Given the description of an element on the screen output the (x, y) to click on. 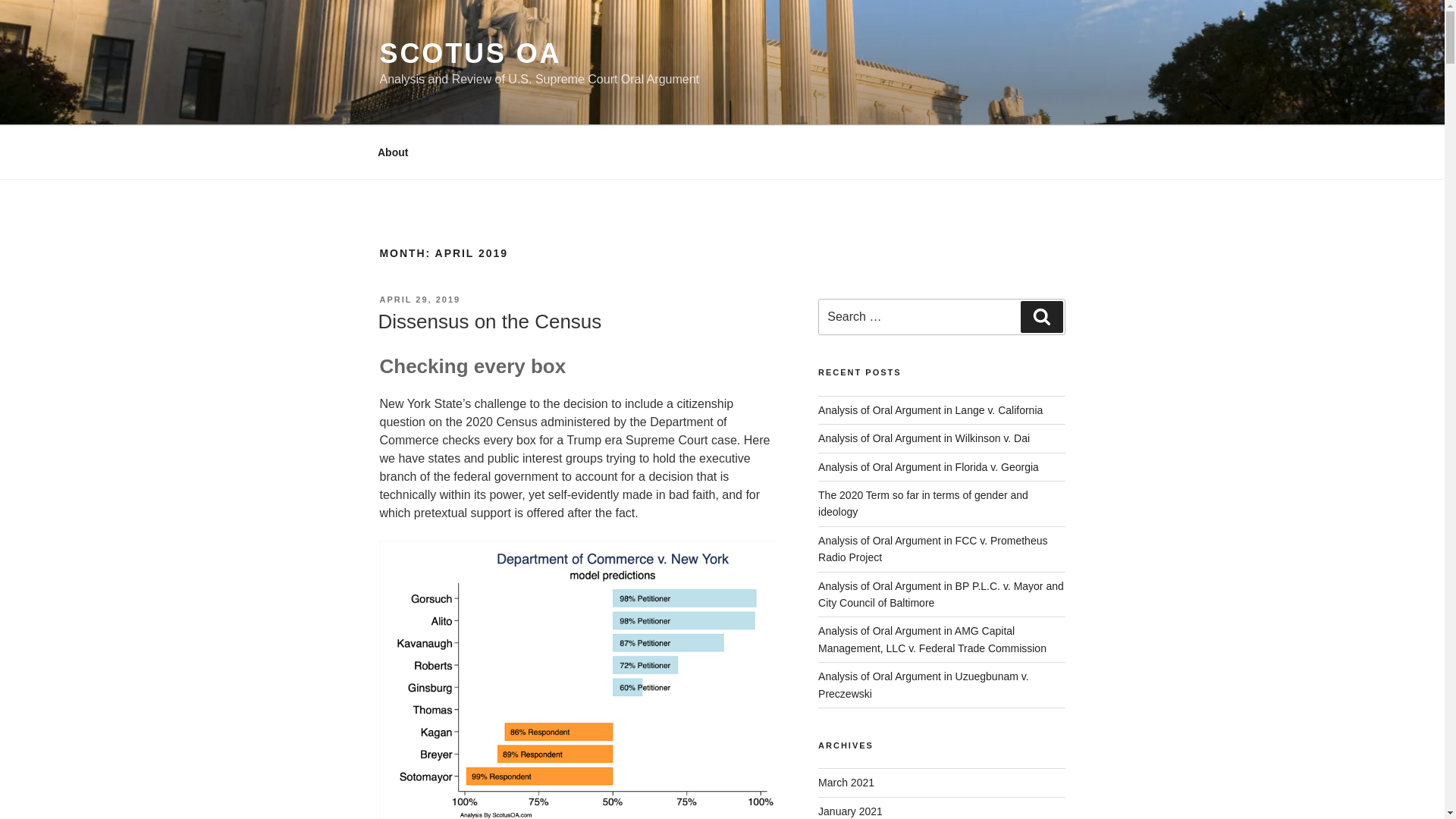
Dissensus on the Census (489, 321)
SCOTUS OA (469, 52)
APRIL 29, 2019 (419, 298)
About (392, 151)
